Given the description of an element on the screen output the (x, y) to click on. 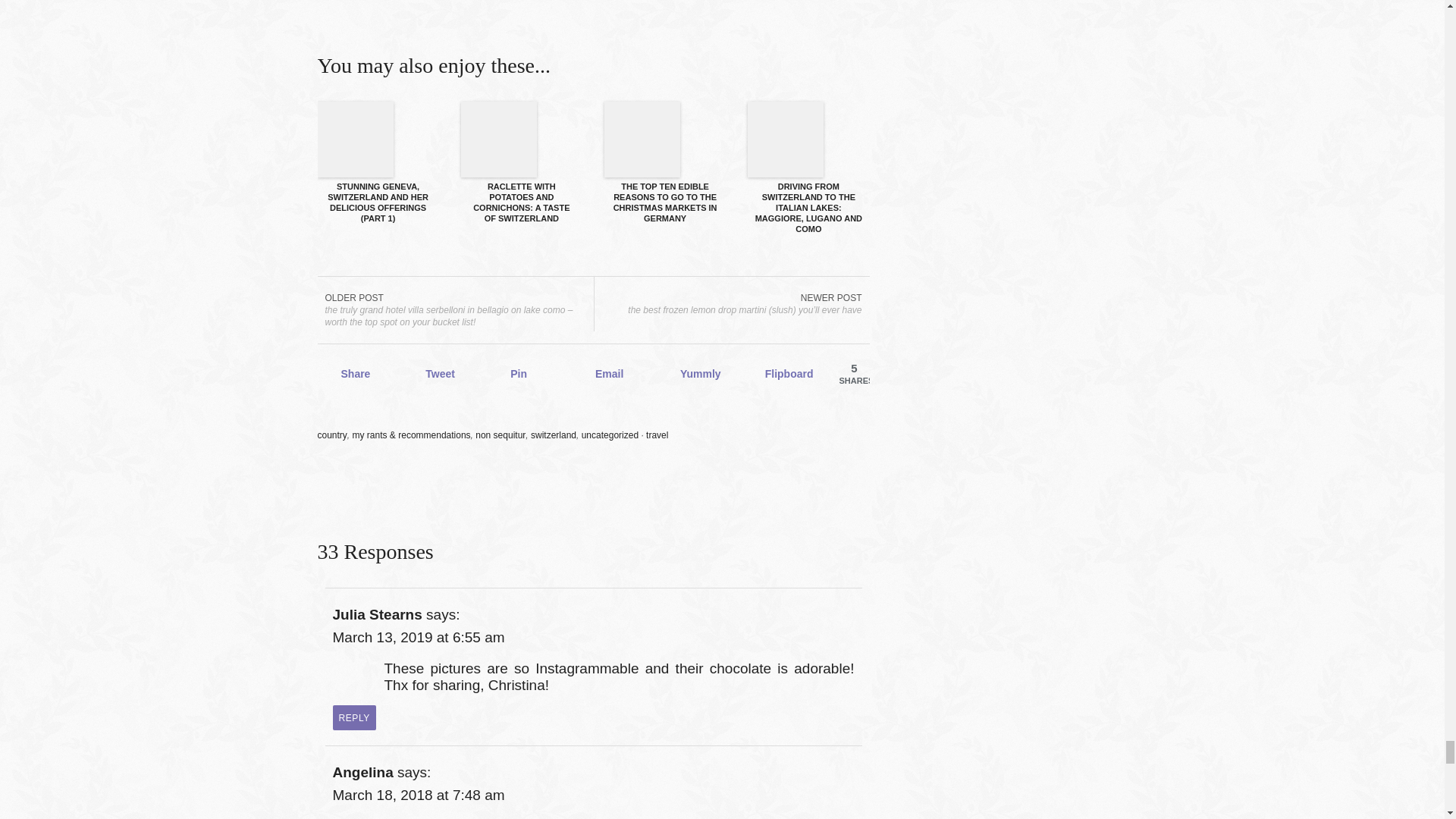
Save to Pinterest (524, 373)
Share on Yummly (694, 373)
Send over email (609, 373)
Share on Flipboard (778, 373)
Share on X (439, 373)
Share on Facebook (354, 373)
